Given the description of an element on the screen output the (x, y) to click on. 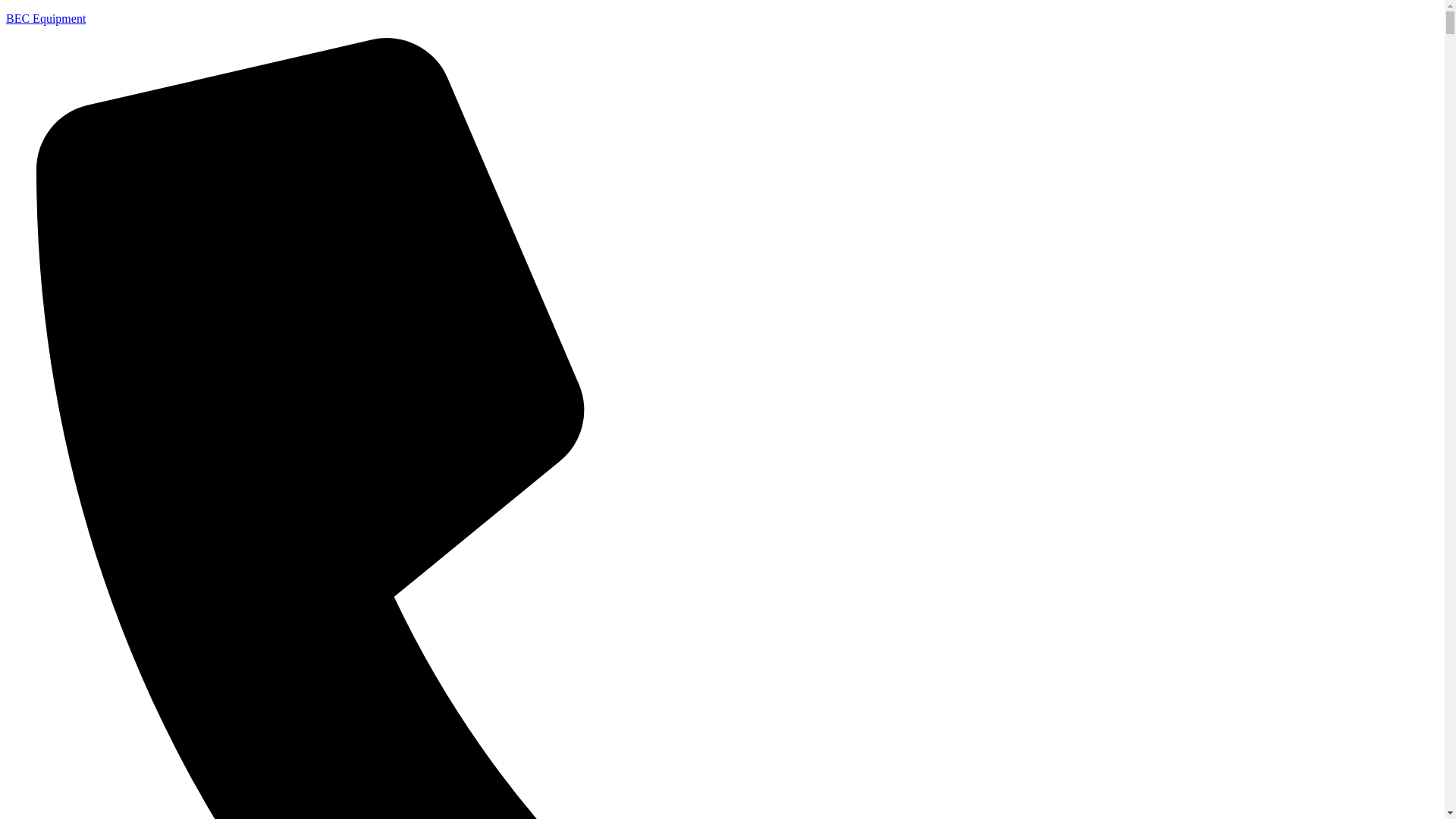
BEC Equipment Element type: text (45, 18)
